Given the description of an element on the screen output the (x, y) to click on. 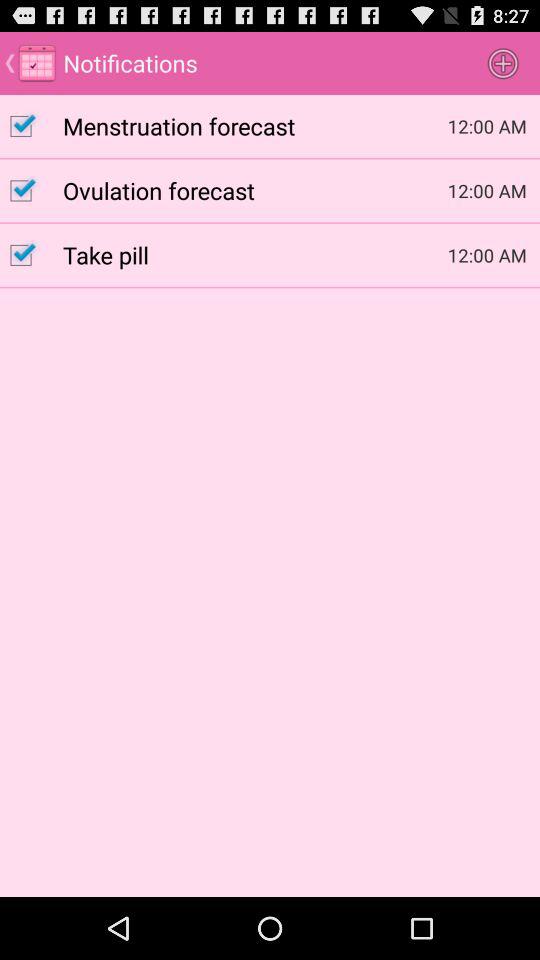
turn off the icon to the right of the notifications (503, 62)
